Given the description of an element on the screen output the (x, y) to click on. 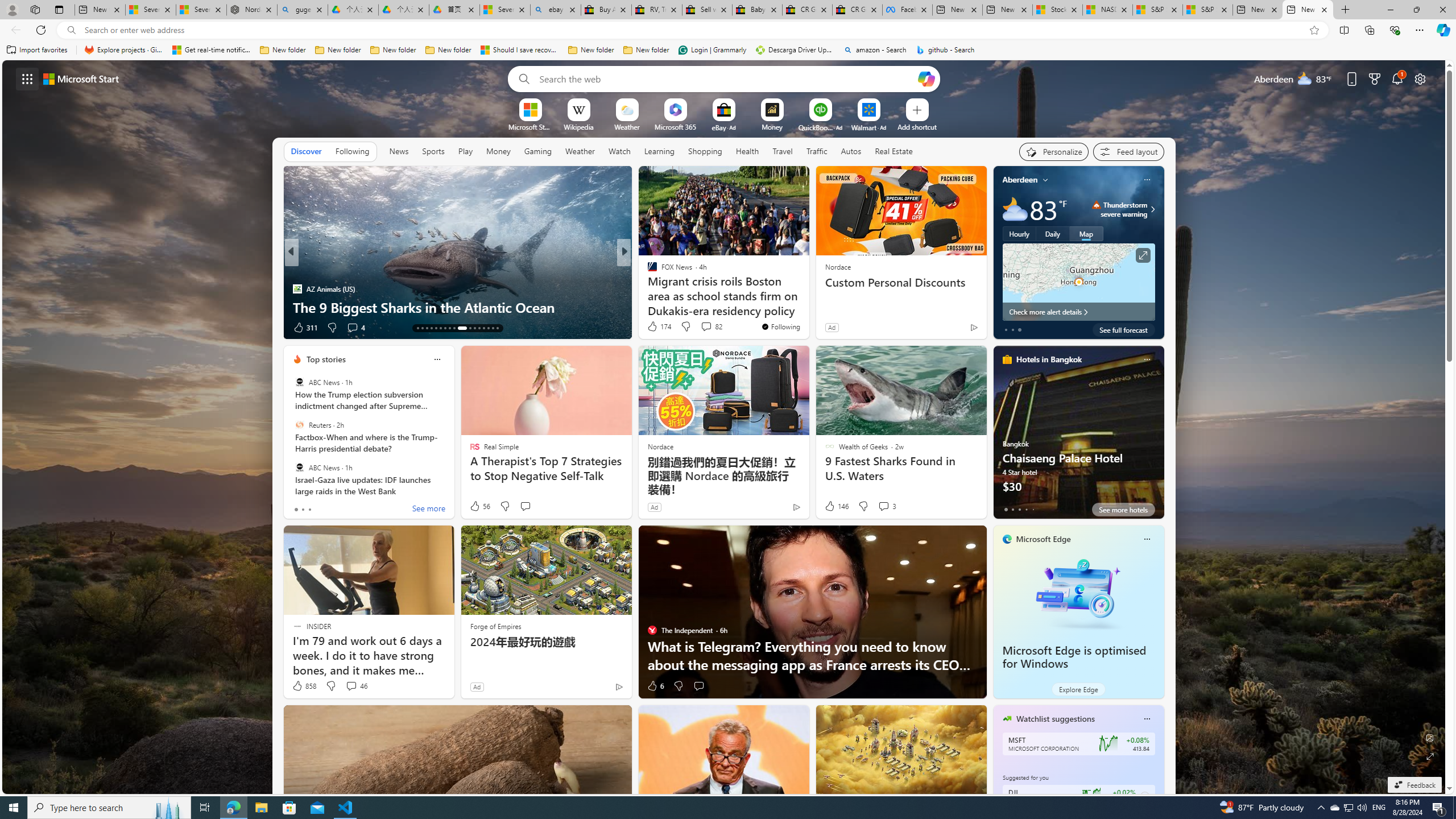
56 Like (479, 505)
AutomationID: tab-18 (440, 328)
View comments 3 Comment (883, 505)
Class: icon-img (1146, 718)
Class: follow-button  m (1144, 795)
Play (465, 151)
Wikipedia (578, 126)
View comments 46 Comment (355, 685)
AutomationID: tab-24 (474, 328)
Discover (306, 151)
Watch (619, 151)
Microsoft 365 (675, 126)
